Given the description of an element on the screen output the (x, y) to click on. 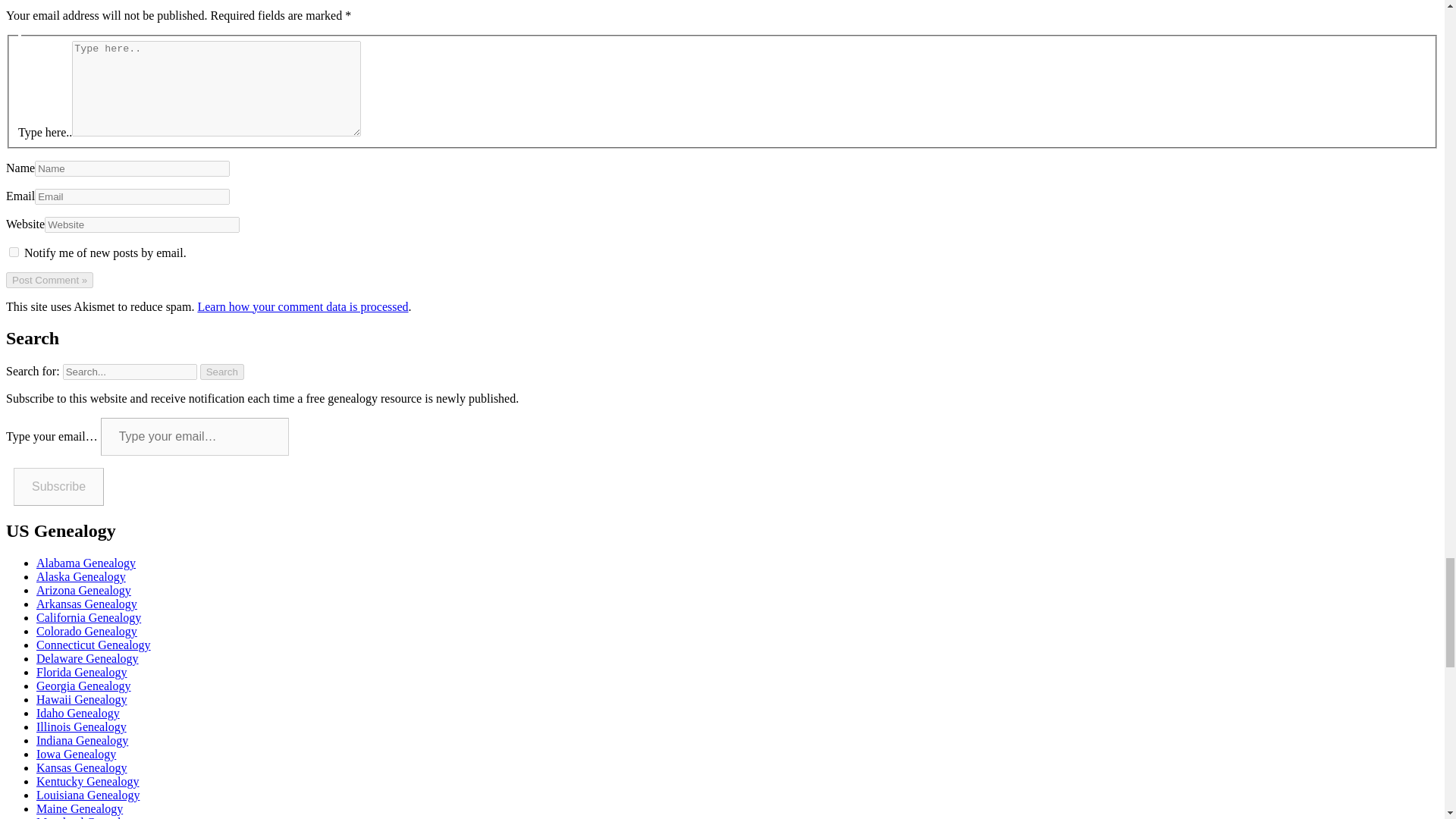
Search (222, 371)
Search (222, 371)
Alabama Genealogy (85, 562)
Learn how your comment data is processed (301, 306)
Subscribe (58, 486)
Search (222, 371)
subscribe (13, 252)
